Given the description of an element on the screen output the (x, y) to click on. 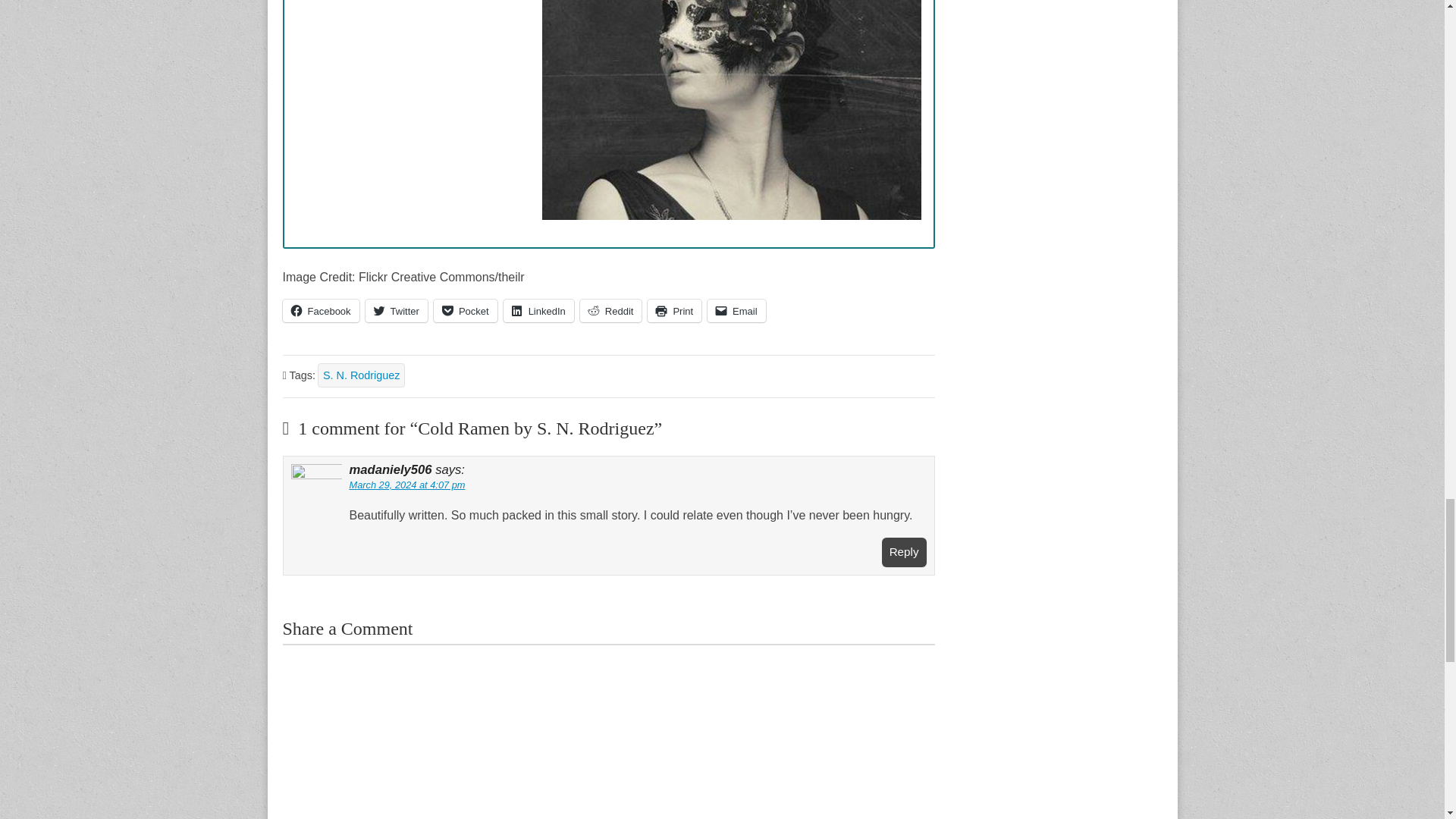
Click to share on Reddit (610, 310)
Click to print (674, 310)
Comment Form (608, 731)
Click to email a link to a friend (736, 310)
Click to share on Facebook (320, 310)
Click to share on LinkedIn (538, 310)
Click to share on Pocket (465, 310)
Click to share on Twitter (396, 310)
